Given the description of an element on the screen output the (x, y) to click on. 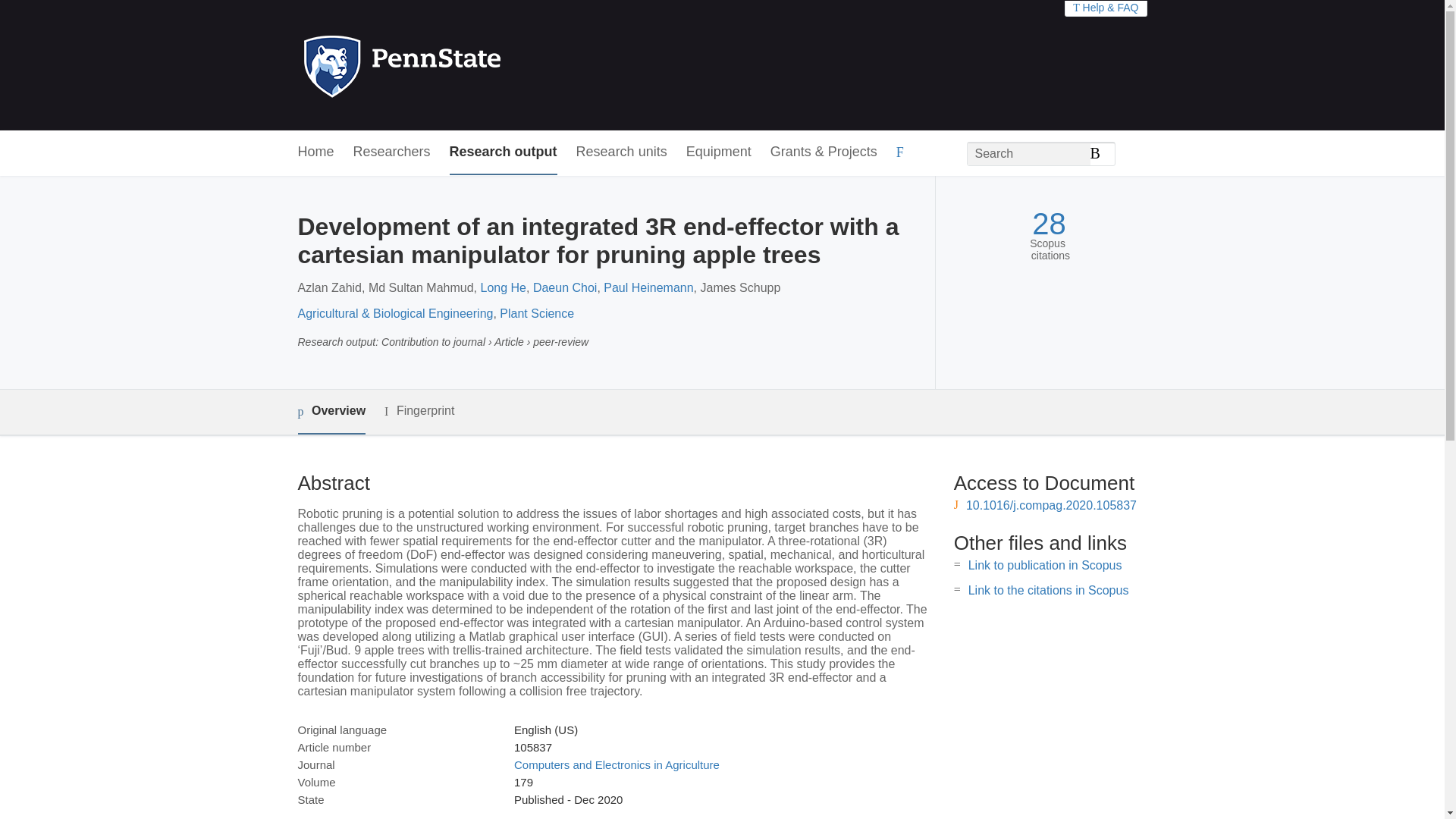
Long He (503, 287)
Researchers (391, 152)
Link to publication in Scopus (1045, 564)
Fingerprint (419, 411)
Research units (621, 152)
Computers and Electronics in Agriculture (616, 764)
Paul Heinemann (648, 287)
Penn State Home (467, 65)
Research output (503, 152)
Overview (331, 411)
Link to the citations in Scopus (1048, 590)
Plant Science (536, 313)
Equipment (718, 152)
28 (1048, 223)
